Given the description of an element on the screen output the (x, y) to click on. 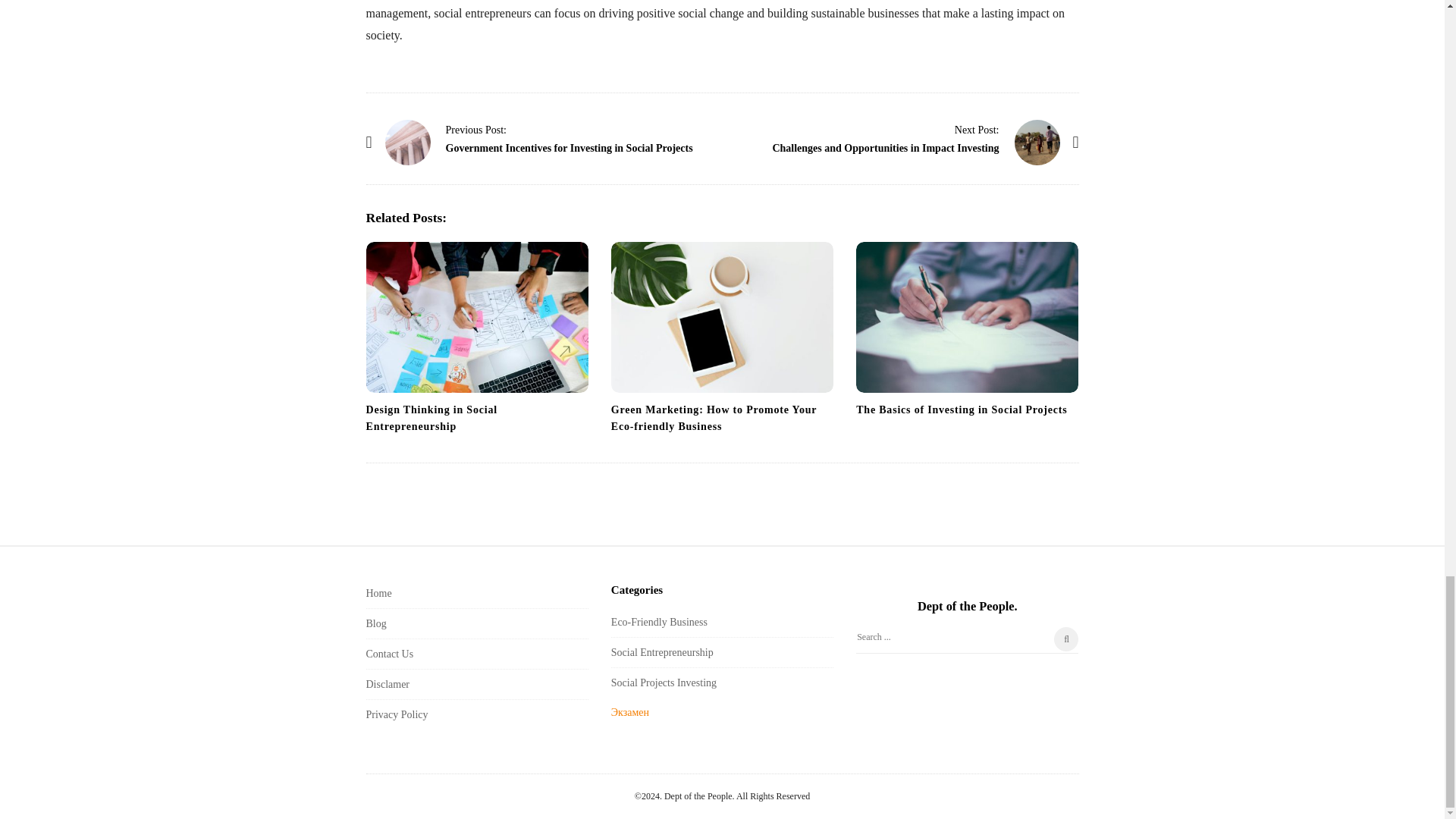
Challenges and Opportunities in Impact Investing (884, 147)
Eco-Friendly Business (659, 622)
The Basics of Investing in Social Projects (961, 409)
Blog (375, 623)
Privacy Policy (396, 714)
Government Incentives for Investing in Social Projects (569, 147)
Green Marketing: How to Promote Your Eco-friendly Business (713, 418)
Design Thinking in Social Entrepreneurship (430, 418)
Government Incentives for Investing in Social Projects (475, 129)
Government Incentives for Investing in Social Projects (407, 142)
Challenges and Opportunities in Impact Investing (1036, 142)
Green Marketing: How to Promote Your Eco-friendly Business (721, 317)
Home (378, 593)
Disclamer (387, 684)
Contact Us (389, 654)
